Given the description of an element on the screen output the (x, y) to click on. 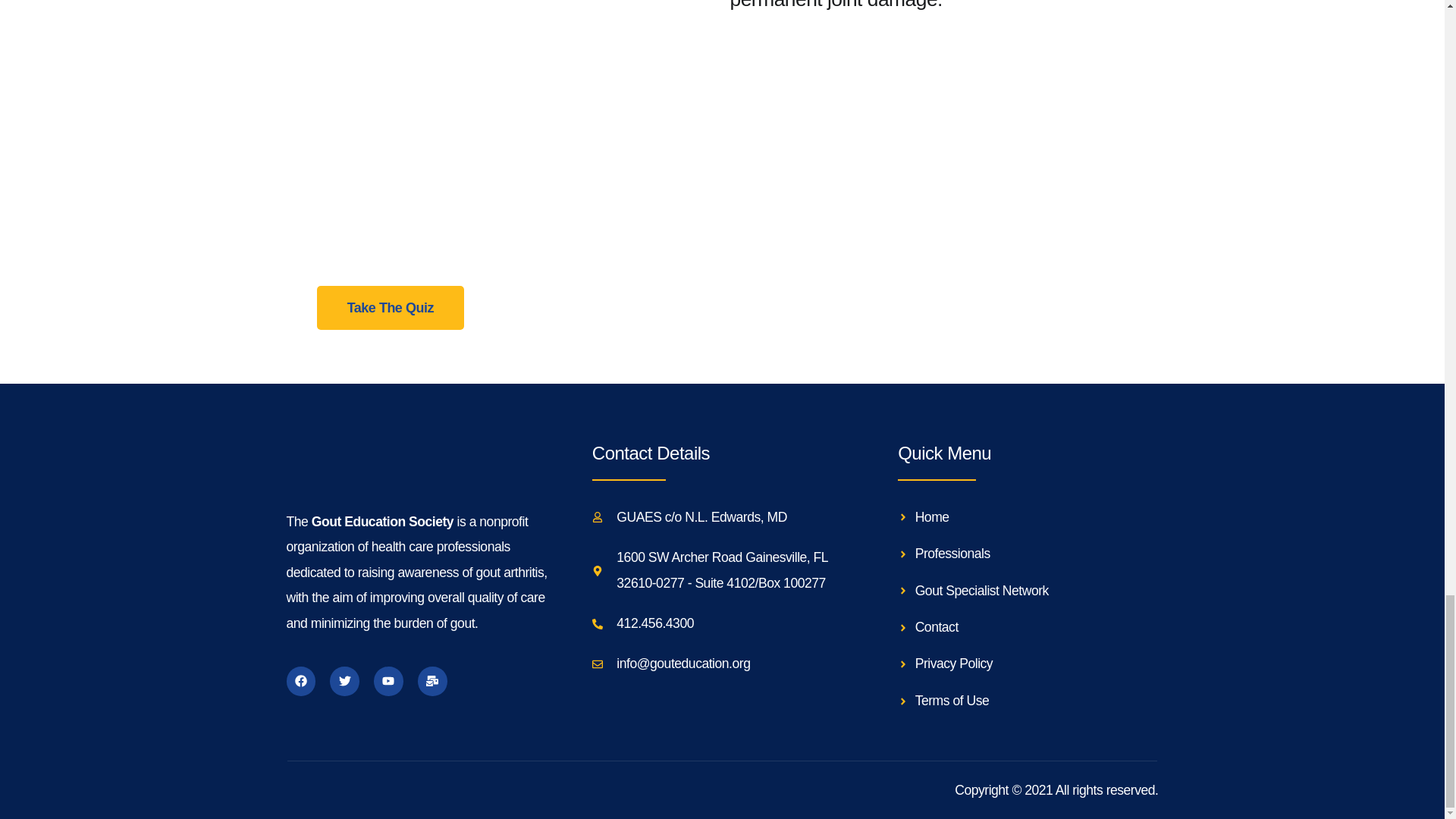
Home Page 4 (505, 13)
